Given the description of an element on the screen output the (x, y) to click on. 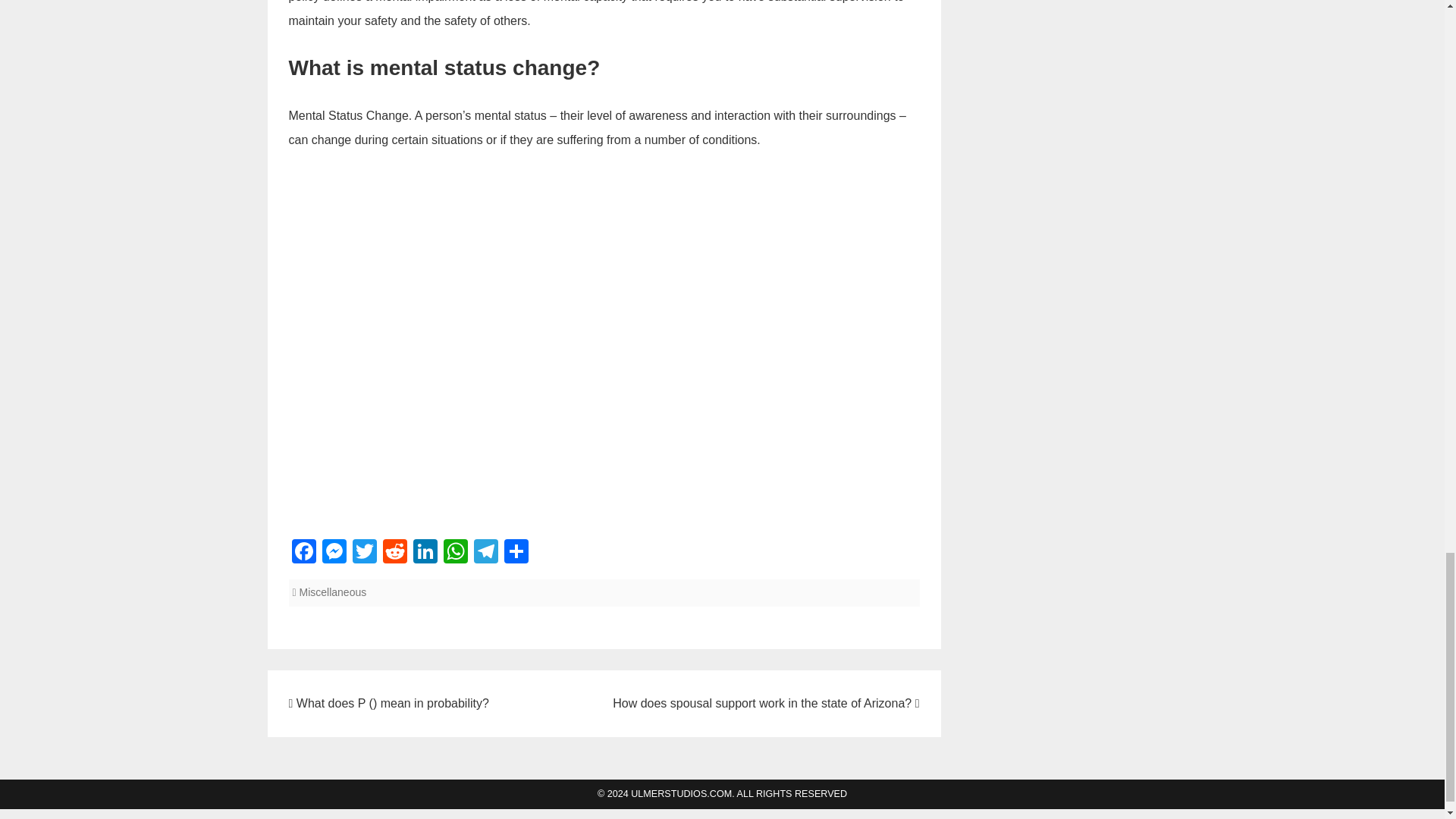
Telegram (485, 552)
Facebook (303, 552)
Reddit (393, 552)
Messenger (333, 552)
Miscellaneous (332, 592)
Messenger (333, 552)
How does spousal support work in the state of Arizona? (765, 703)
LinkedIn (424, 552)
LinkedIn (424, 552)
Twitter (363, 552)
WhatsApp (454, 552)
Telegram (485, 552)
Reddit (393, 552)
Facebook (303, 552)
Twitter (363, 552)
